Given the description of an element on the screen output the (x, y) to click on. 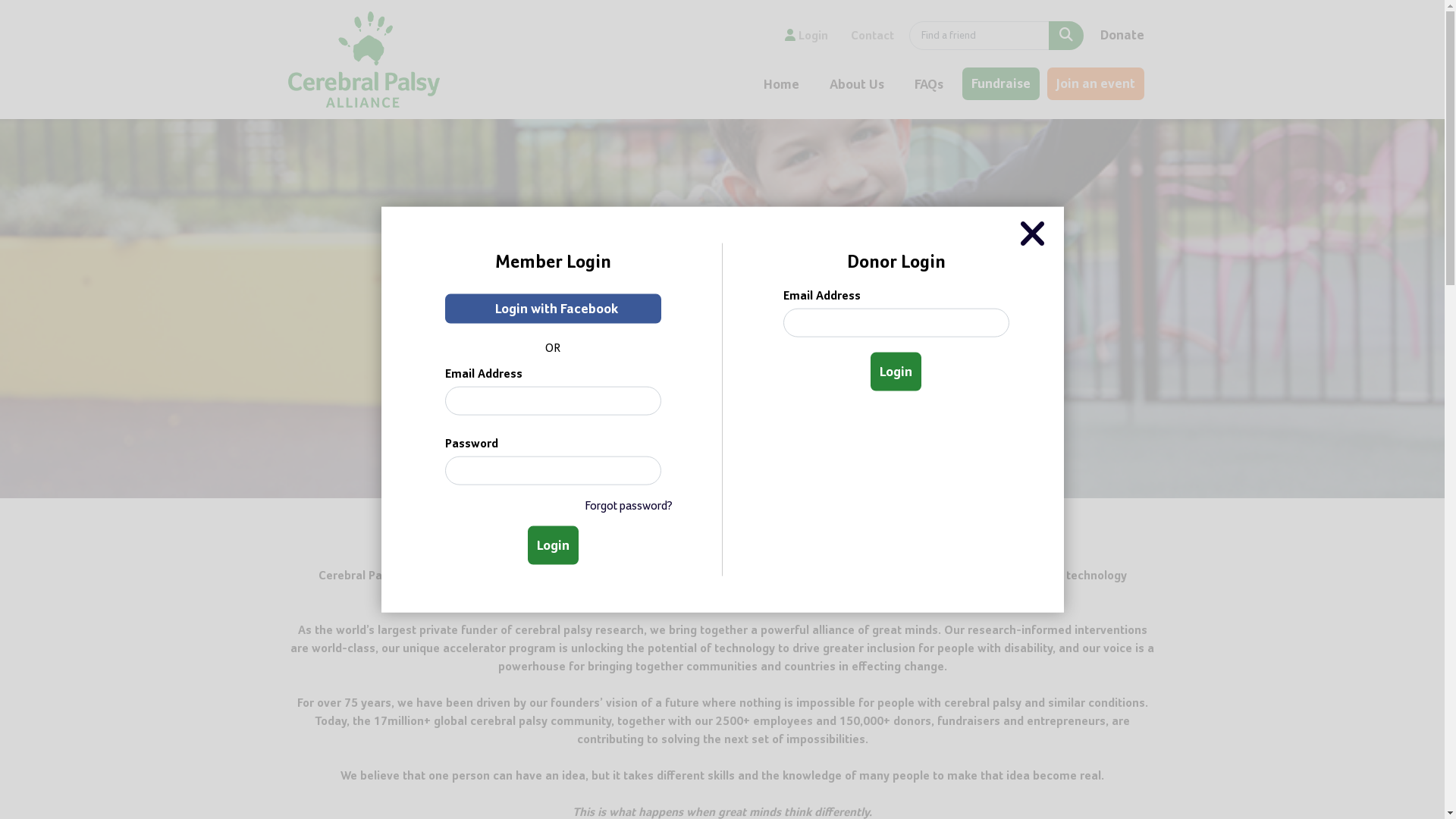
FAQs Element type: text (928, 83)
About Us Element type: text (856, 83)
Login Element type: text (806, 35)
Home Element type: text (780, 83)
Login with Facebook Element type: text (552, 308)
Join an event Element type: text (1094, 83)
Contact Element type: text (871, 35)
Fundraise Element type: text (641, 358)
Login Element type: text (552, 544)
Login Element type: text (895, 370)
Forgot password? Element type: text (552, 504)
Join an event Element type: text (802, 358)
Fundraise Element type: text (999, 83)
Donate Element type: text (1121, 34)
